Given the description of an element on the screen output the (x, y) to click on. 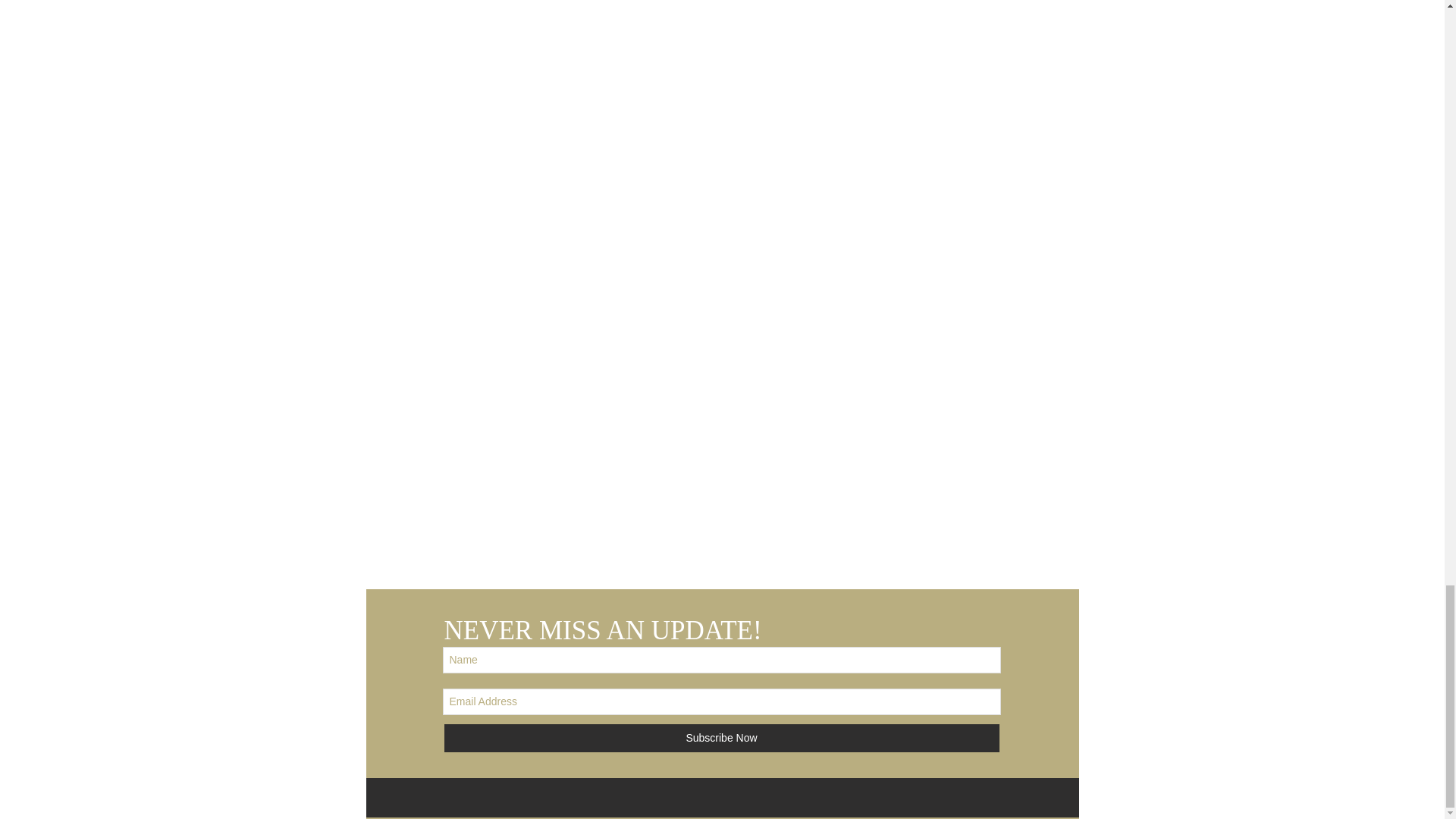
Subscribe Now (721, 737)
